Given the description of an element on the screen output the (x, y) to click on. 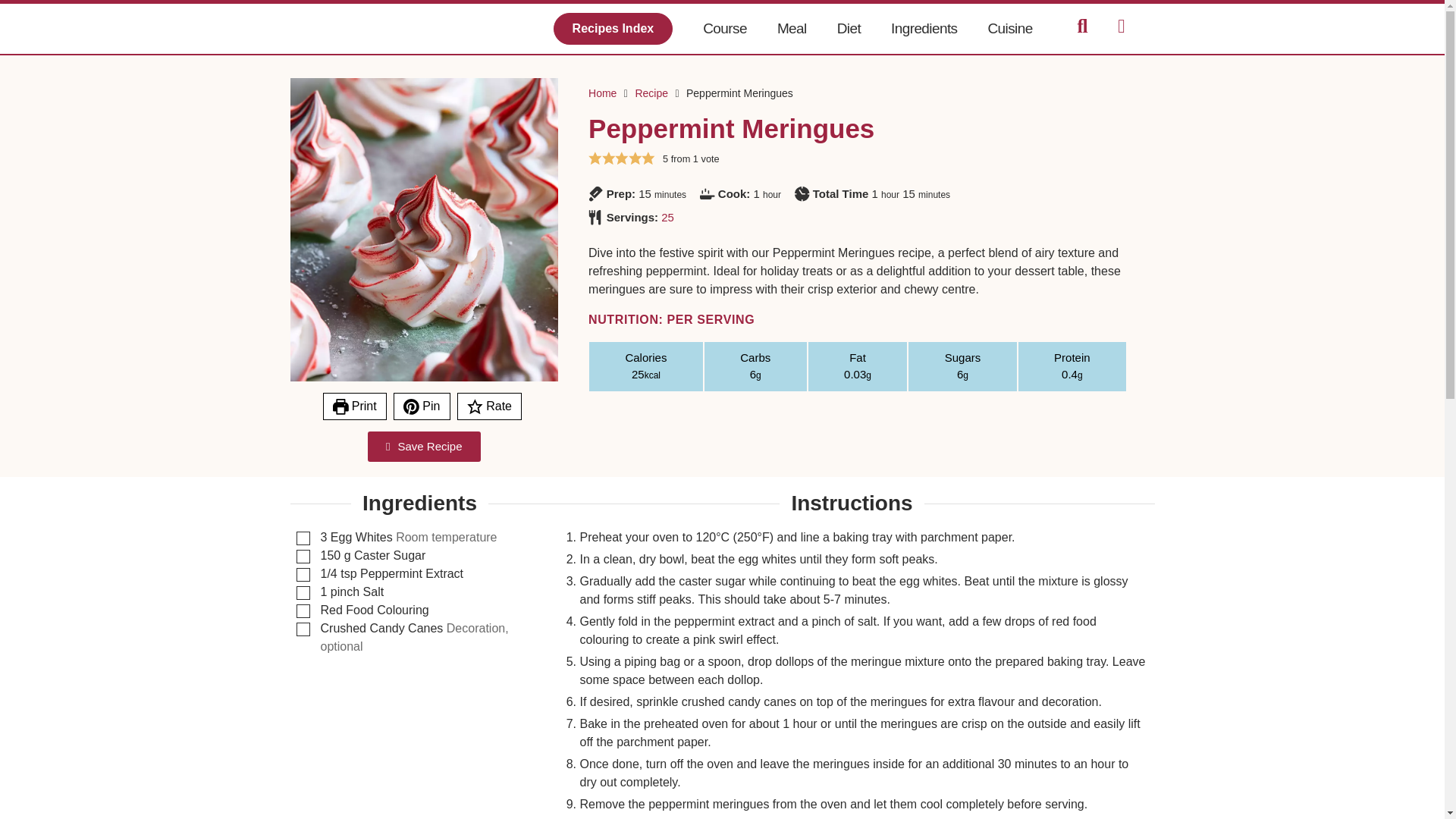
Course (724, 29)
Home (601, 93)
Save Recipe (424, 446)
Recipe (651, 93)
Recipes Index (612, 29)
Pin (421, 406)
Print (355, 406)
Ingredients (924, 29)
Diet (849, 29)
Rate (489, 406)
Meal (791, 29)
Cuisine (1009, 29)
